Given the description of an element on the screen output the (x, y) to click on. 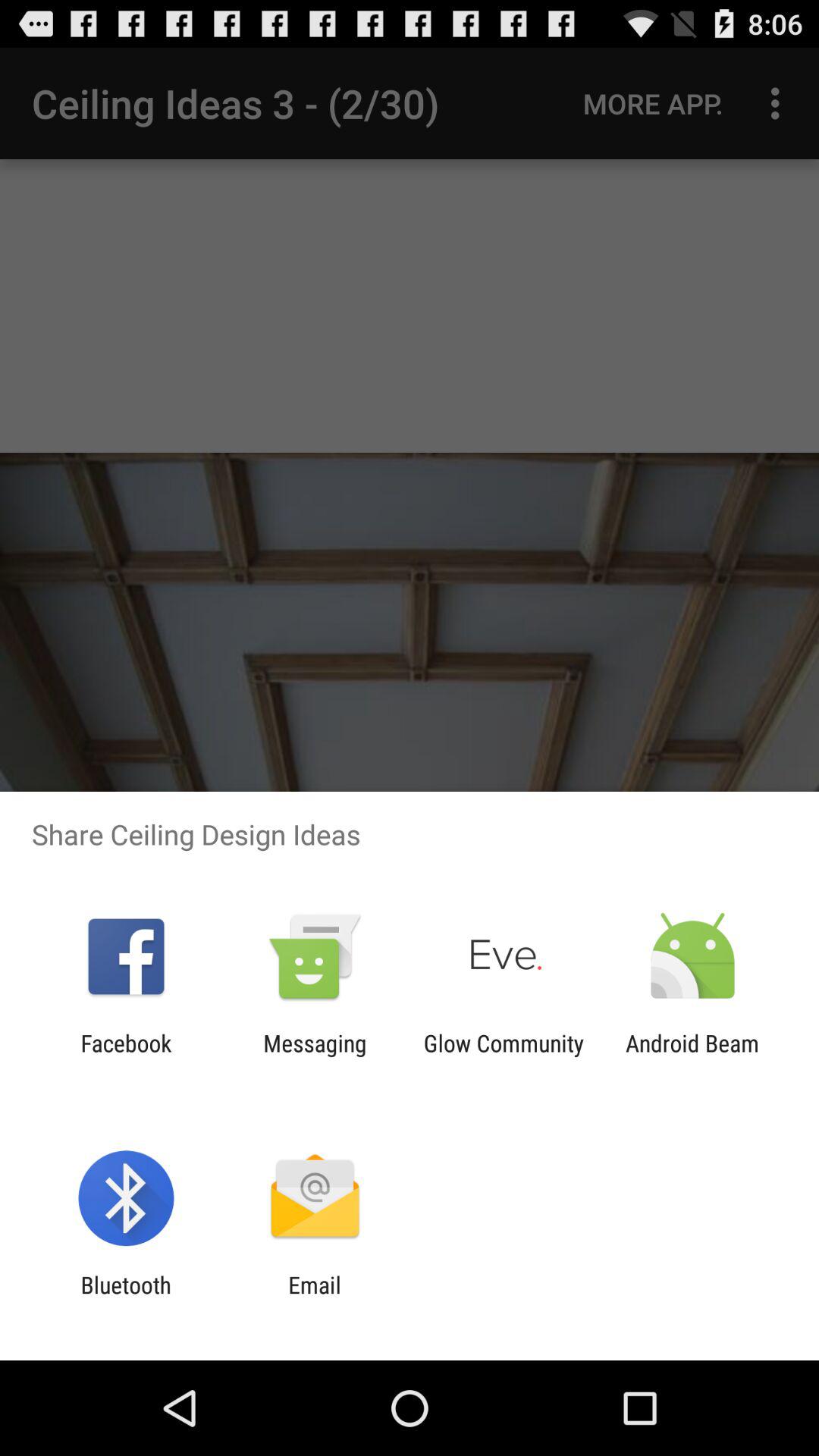
launch the app at the bottom right corner (692, 1056)
